Given the description of an element on the screen output the (x, y) to click on. 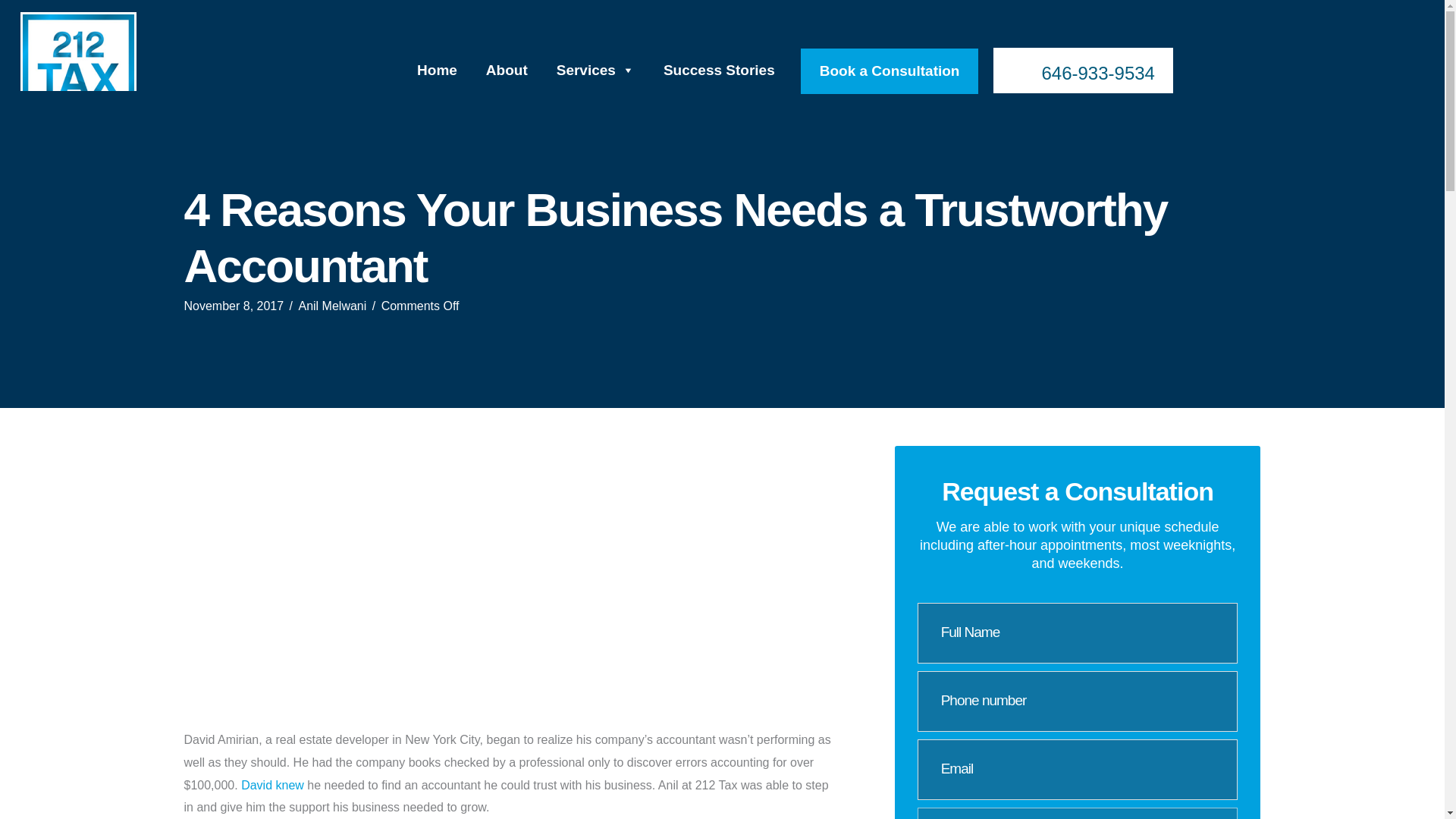
Home (436, 69)
Services (595, 69)
David knew (272, 784)
Anil Melwani (332, 305)
About (507, 69)
Success Stories (719, 69)
Book a Consultation (889, 71)
646-933-9534 (1082, 69)
